Given the description of an element on the screen output the (x, y) to click on. 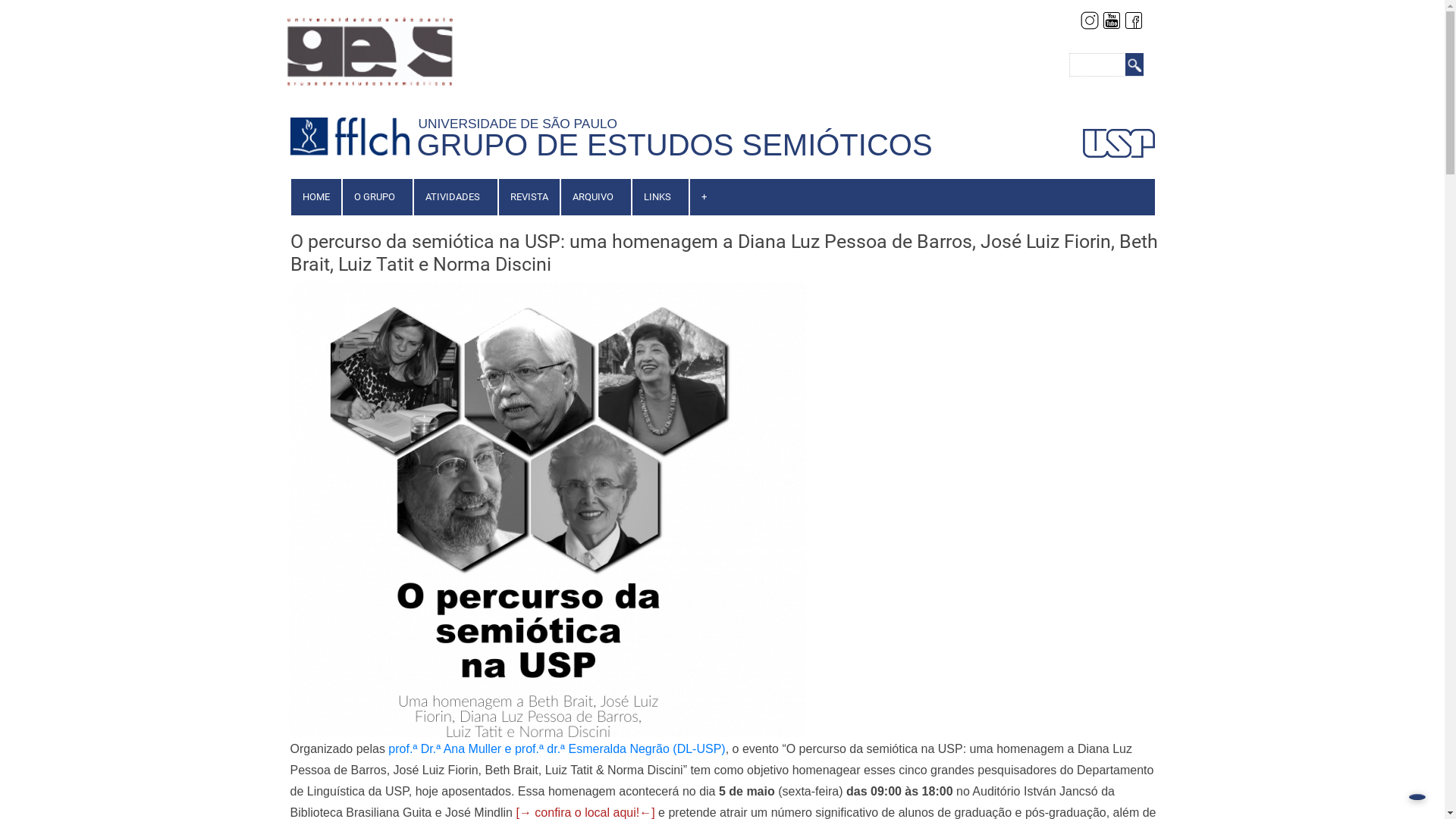
ARQUIVO Element type: text (592, 196)
HOME Element type: text (316, 196)
Canal Ges-Usp no YouTube Element type: hover (1110, 18)
REVISTA Element type: text (528, 196)
O GRUPO Element type: text (374, 196)
+ Element type: text (704, 196)
LINKS Element type: text (657, 196)
Back to Top Element type: hover (1416, 796)
ATIVIDADES Element type: text (452, 196)
Buscar Element type: text (1134, 64)
